Given the description of an element on the screen output the (x, y) to click on. 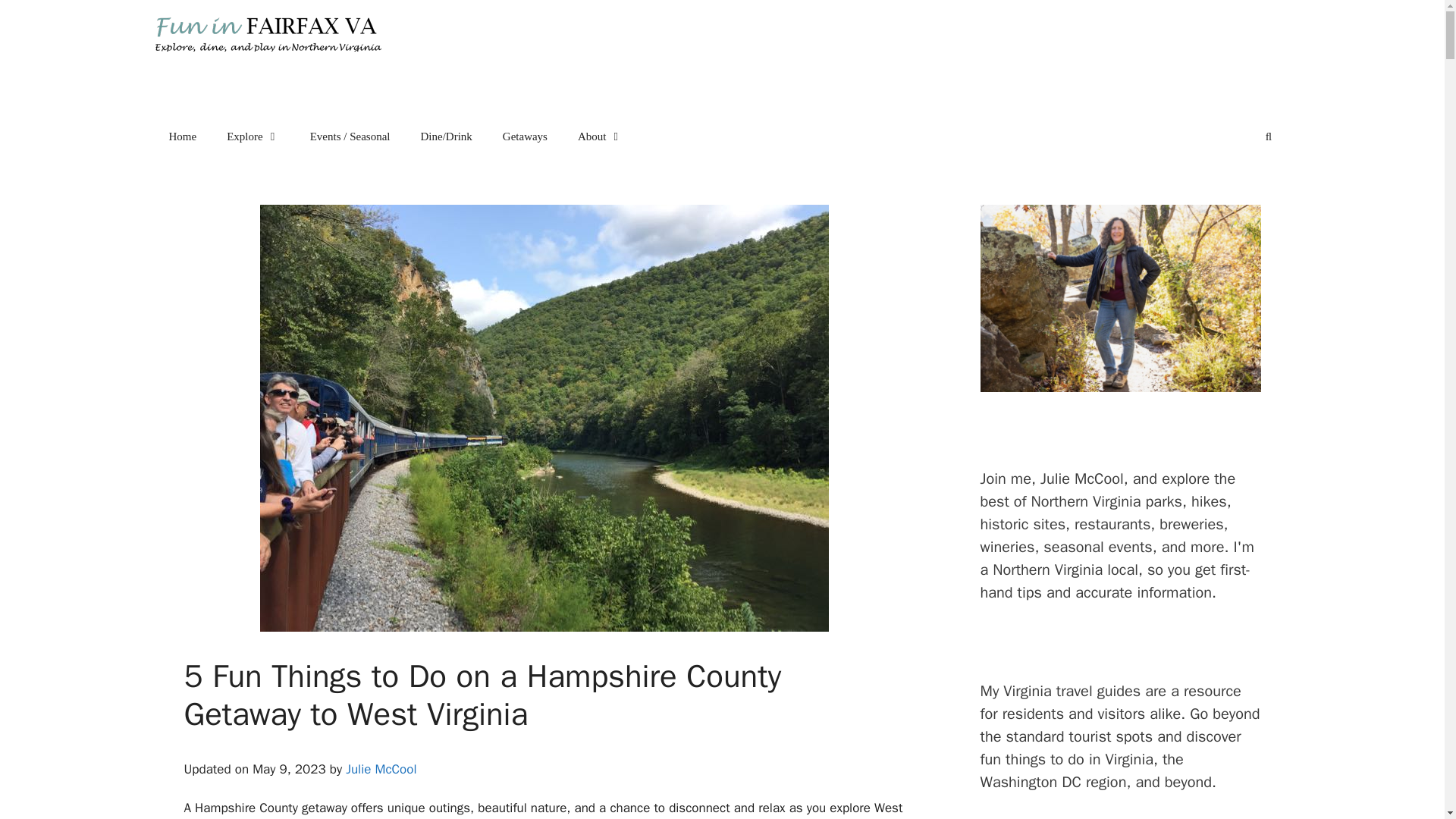
About (600, 135)
Home (181, 135)
Explore (252, 135)
Getaways (524, 135)
Julie McCool (381, 769)
